Given the description of an element on the screen output the (x, y) to click on. 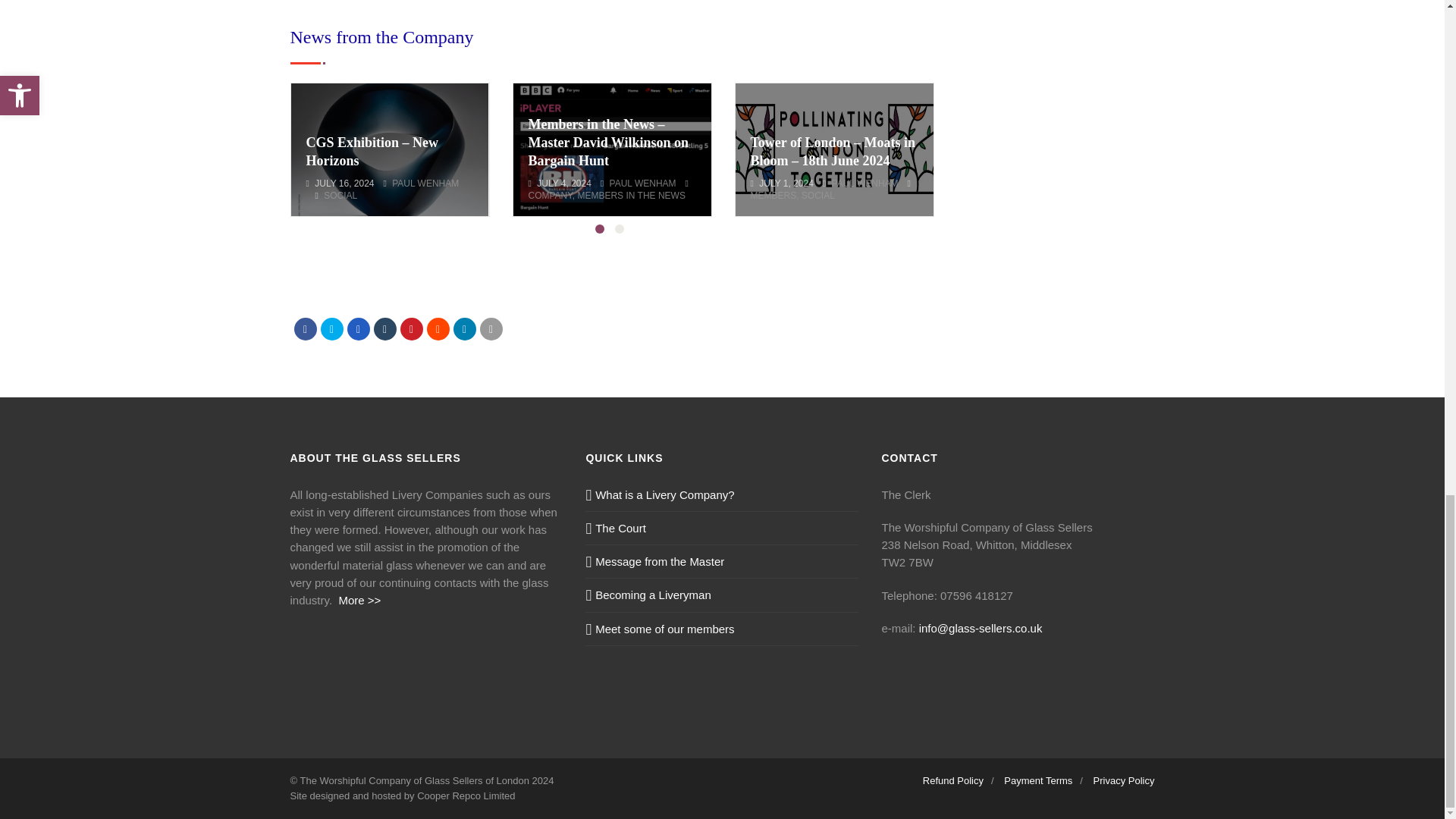
Email (490, 328)
Share on Facebook (305, 328)
Tweet (331, 328)
Pin it (411, 328)
Post to Tumblr (384, 328)
Share on Linkedin (437, 328)
Share on Linkedin (464, 328)
